Given the description of an element on the screen output the (x, y) to click on. 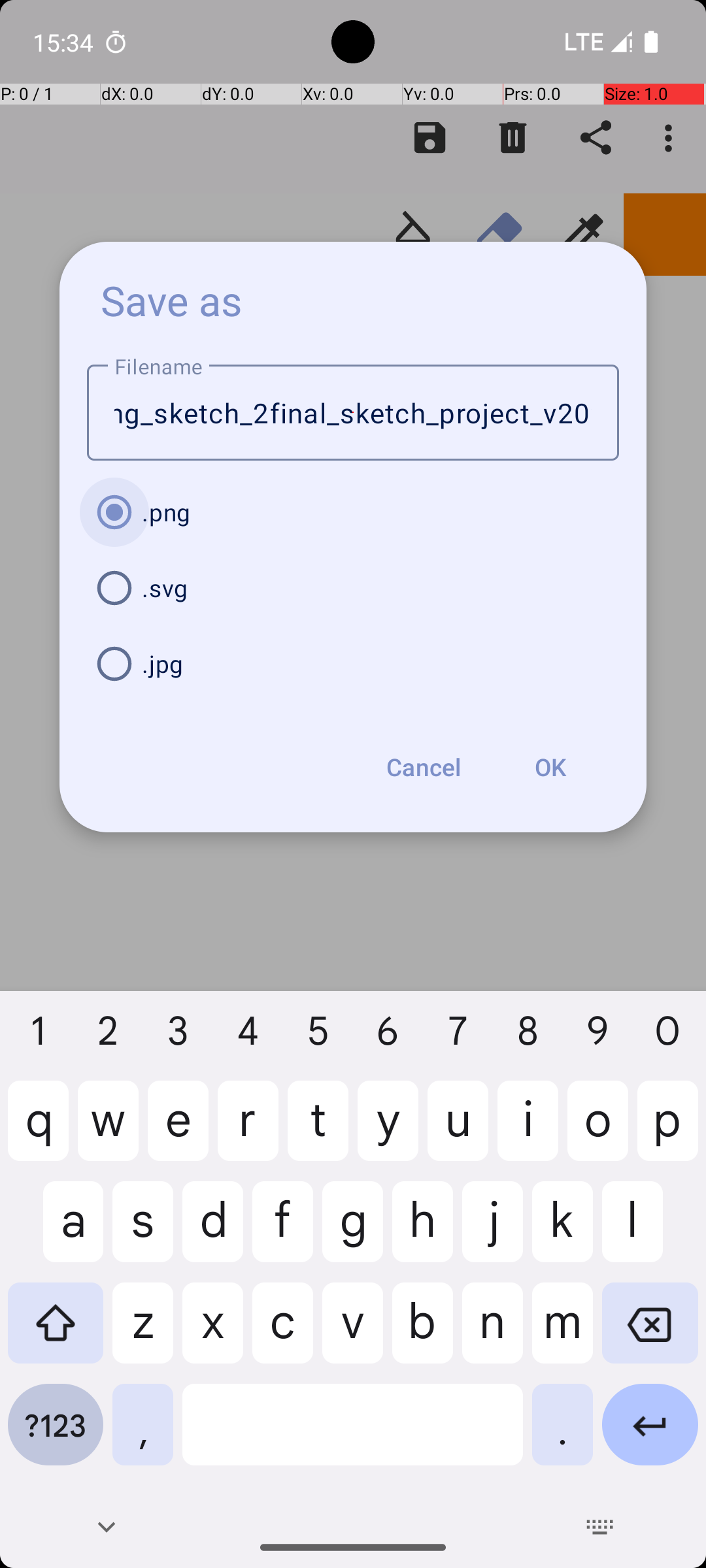
Save as Element type: android.widget.TextView (171, 299)
image_2023_10_1drawdrawing_sketch_2final_sketch_project_v2023_10_01_finaling_sketch_20235_15_34_11 Element type: android.widget.EditText (352, 412)
.png Element type: android.widget.RadioButton (352, 512)
.svg Element type: android.widget.RadioButton (352, 587)
.jpg Element type: android.widget.RadioButton (352, 663)
